Given the description of an element on the screen output the (x, y) to click on. 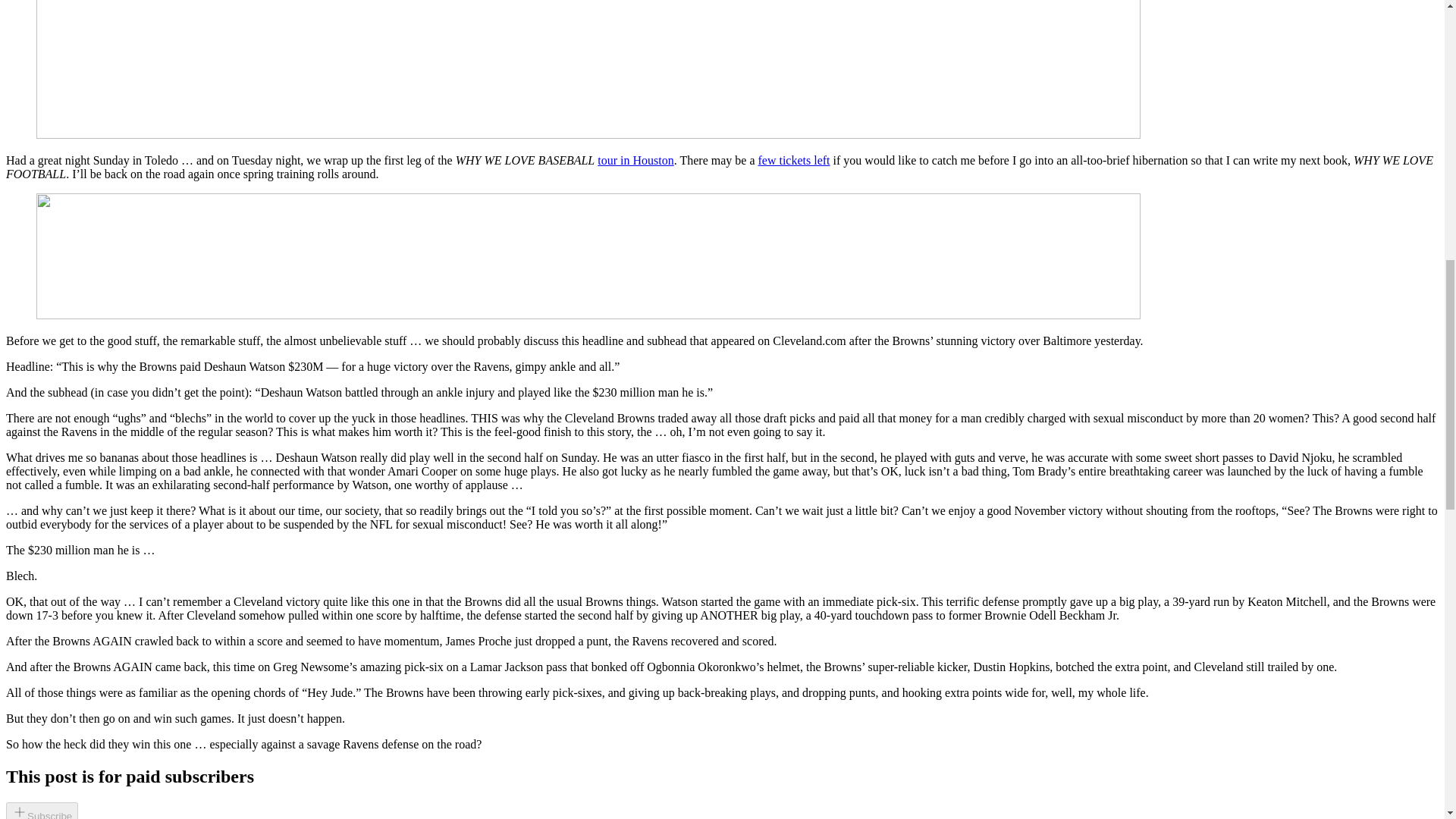
Subscribe (41, 810)
tour in Houston (634, 160)
Subscribe (41, 814)
few tickets left (793, 160)
